Given the description of an element on the screen output the (x, y) to click on. 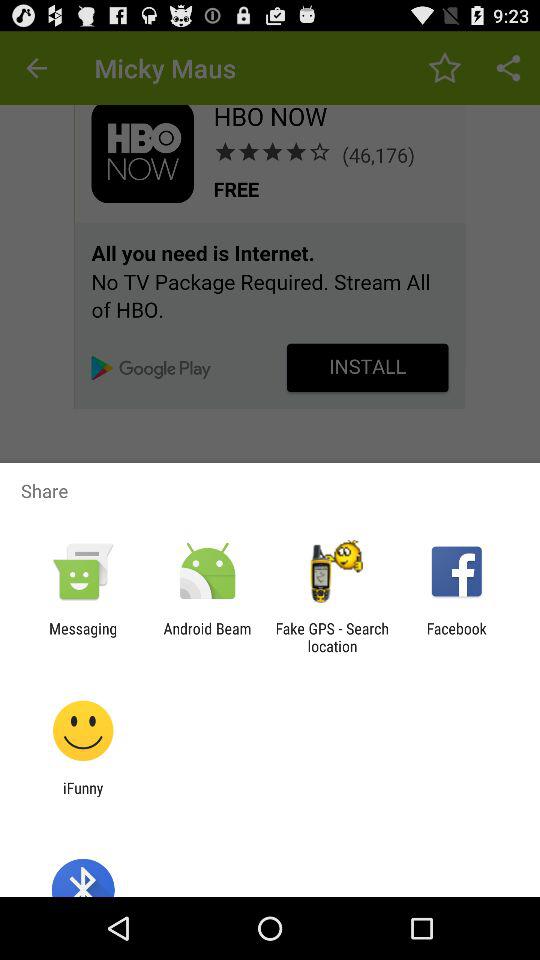
select app to the right of fake gps search (456, 637)
